Given the description of an element on the screen output the (x, y) to click on. 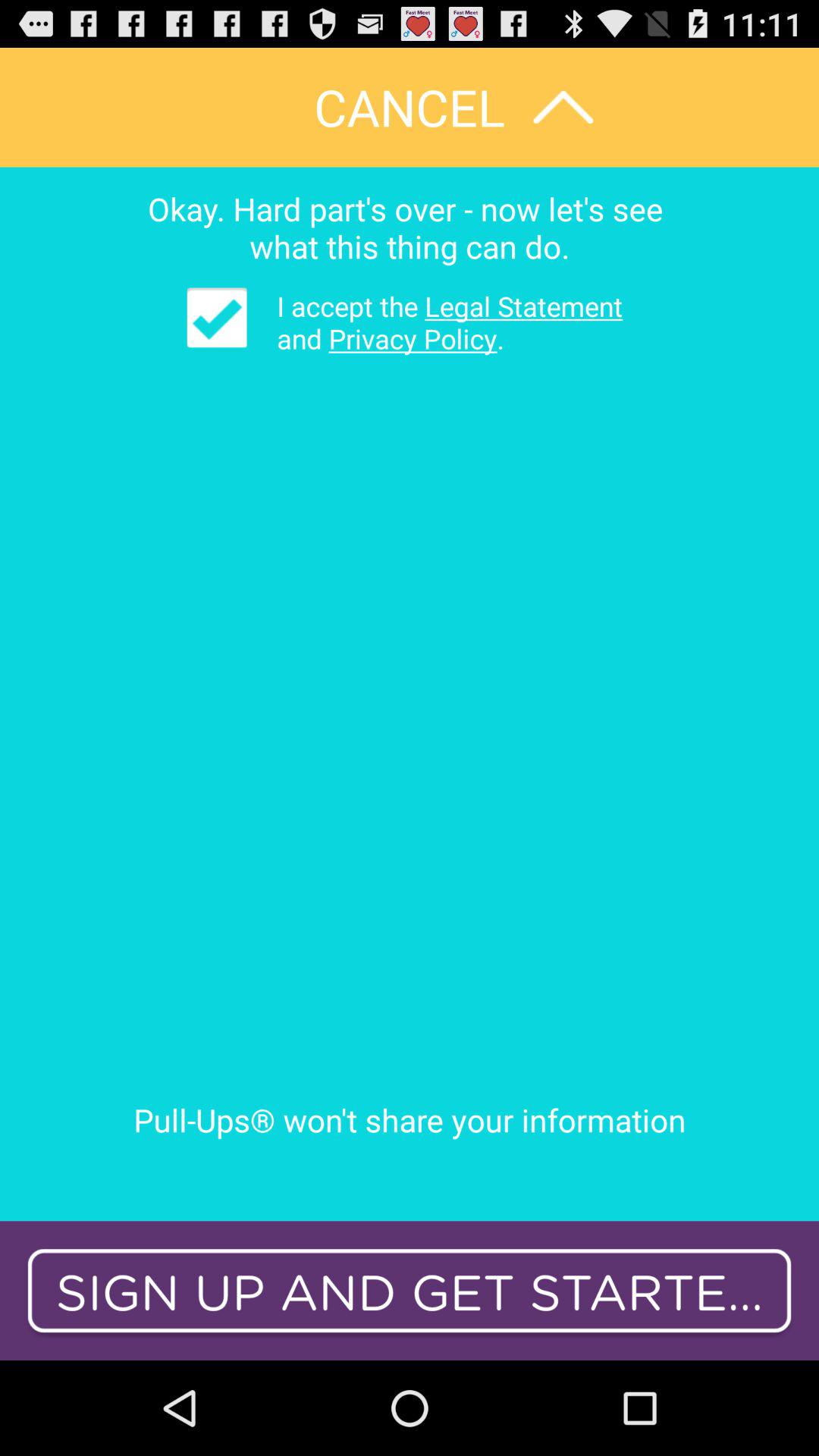
choose icon below pull ups won app (409, 1290)
